Given the description of an element on the screen output the (x, y) to click on. 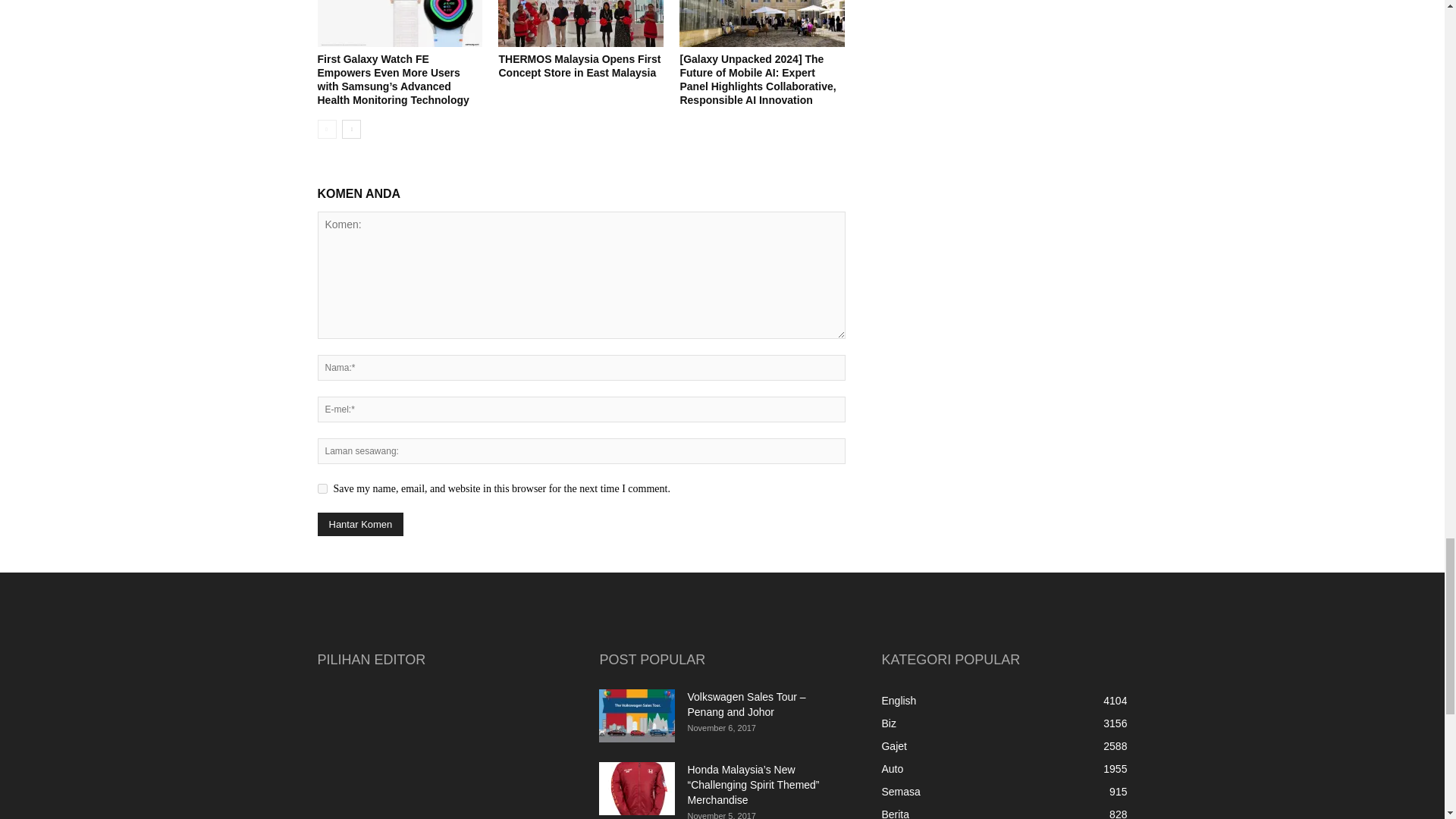
Hantar Komen (360, 524)
yes (321, 488)
